Given the description of an element on the screen output the (x, y) to click on. 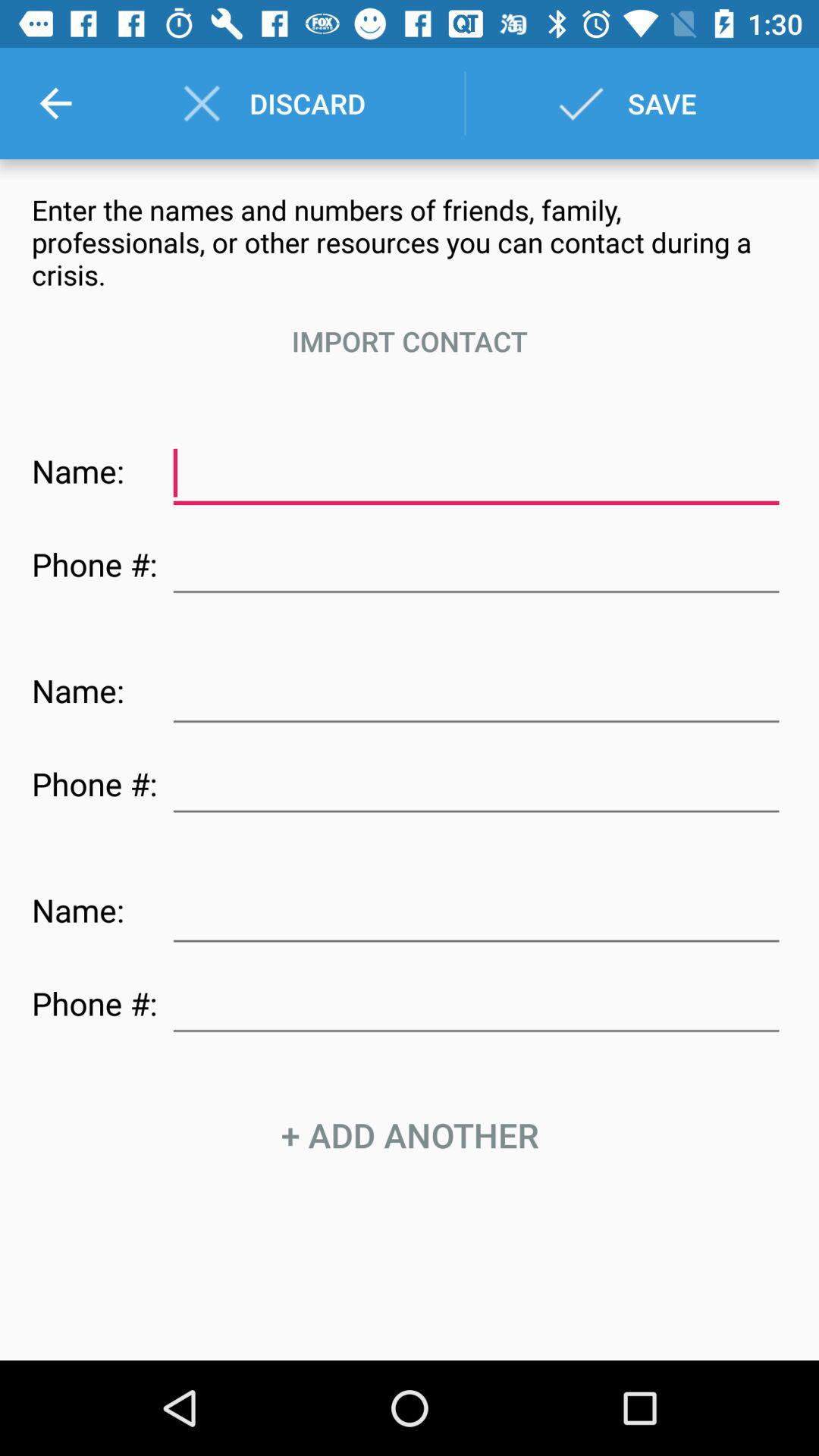
launch the item below the enter the names item (409, 341)
